Given the description of an element on the screen output the (x, y) to click on. 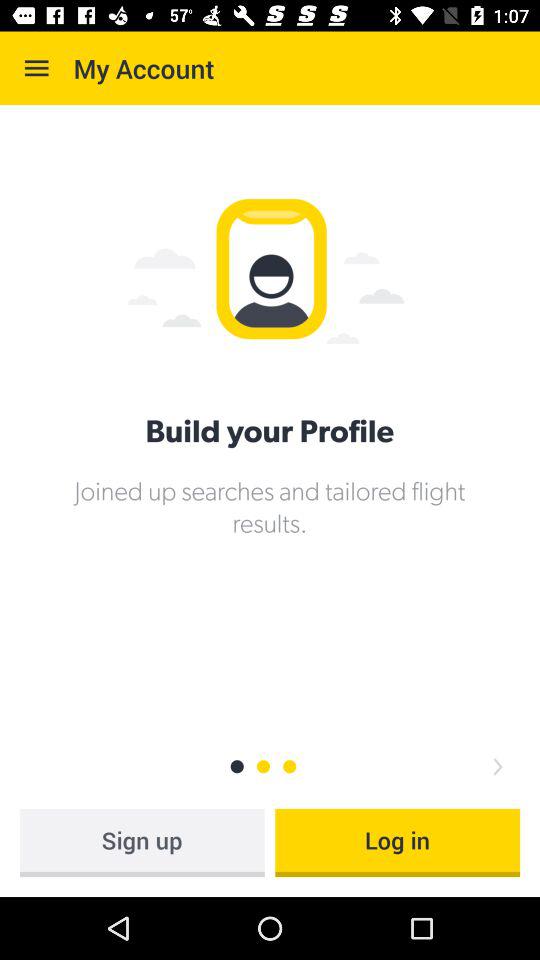
launch the item next to my account item (36, 68)
